Given the description of an element on the screen output the (x, y) to click on. 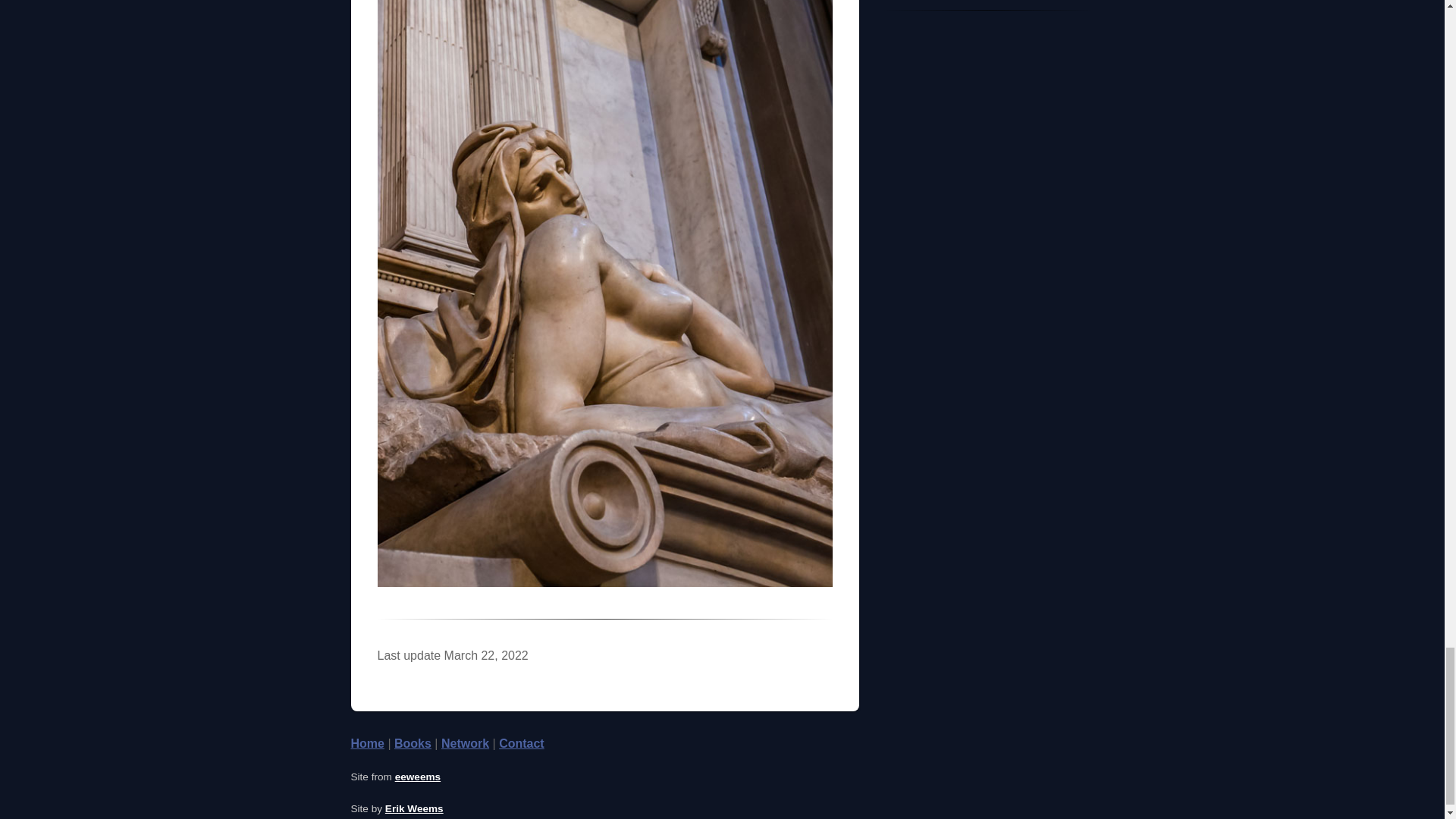
Network (465, 743)
Books (412, 743)
Home (367, 743)
Contact (521, 743)
